Given the description of an element on the screen output the (x, y) to click on. 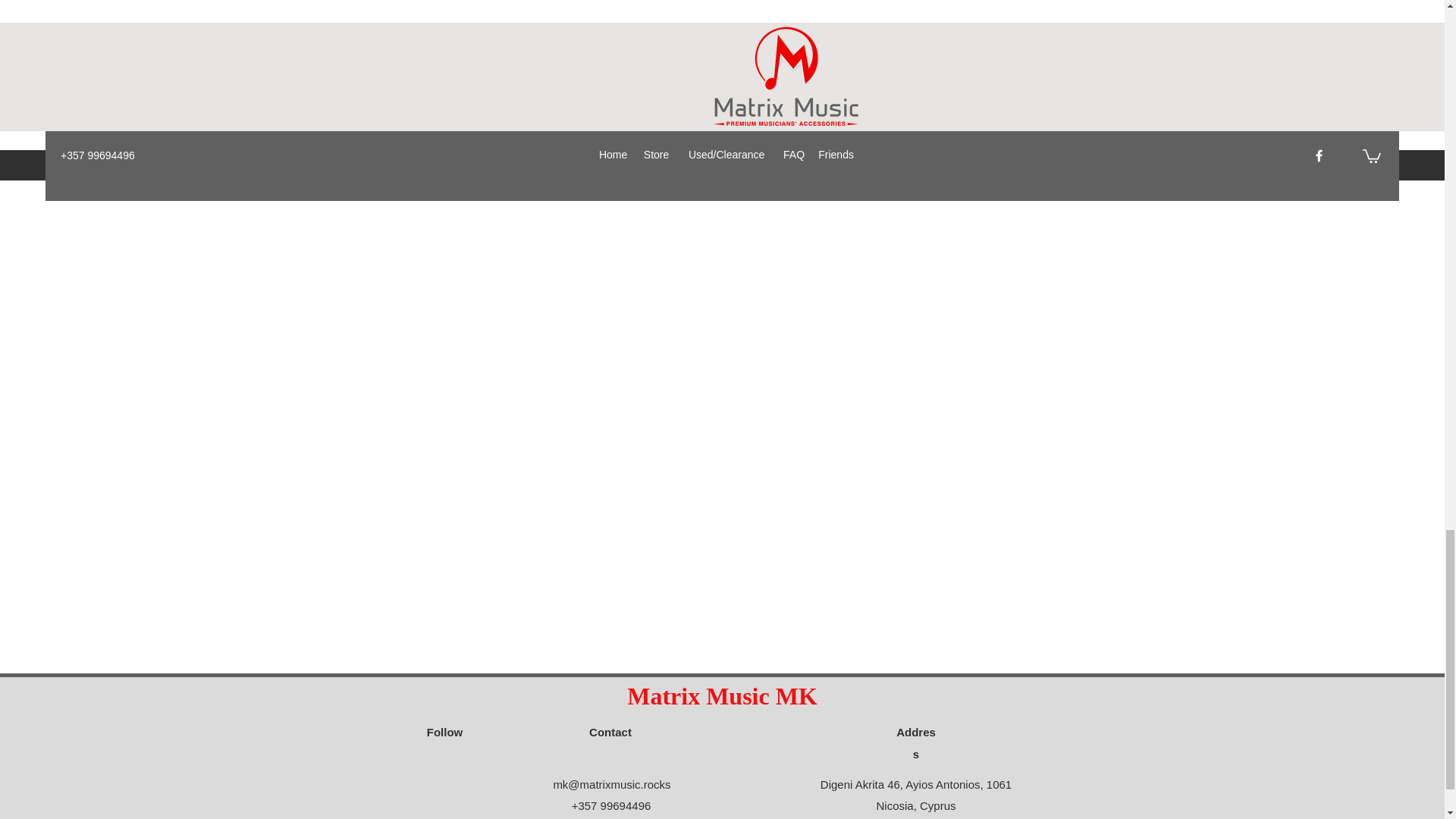
Matrix Music MK (721, 696)
